Given the description of an element on the screen output the (x, y) to click on. 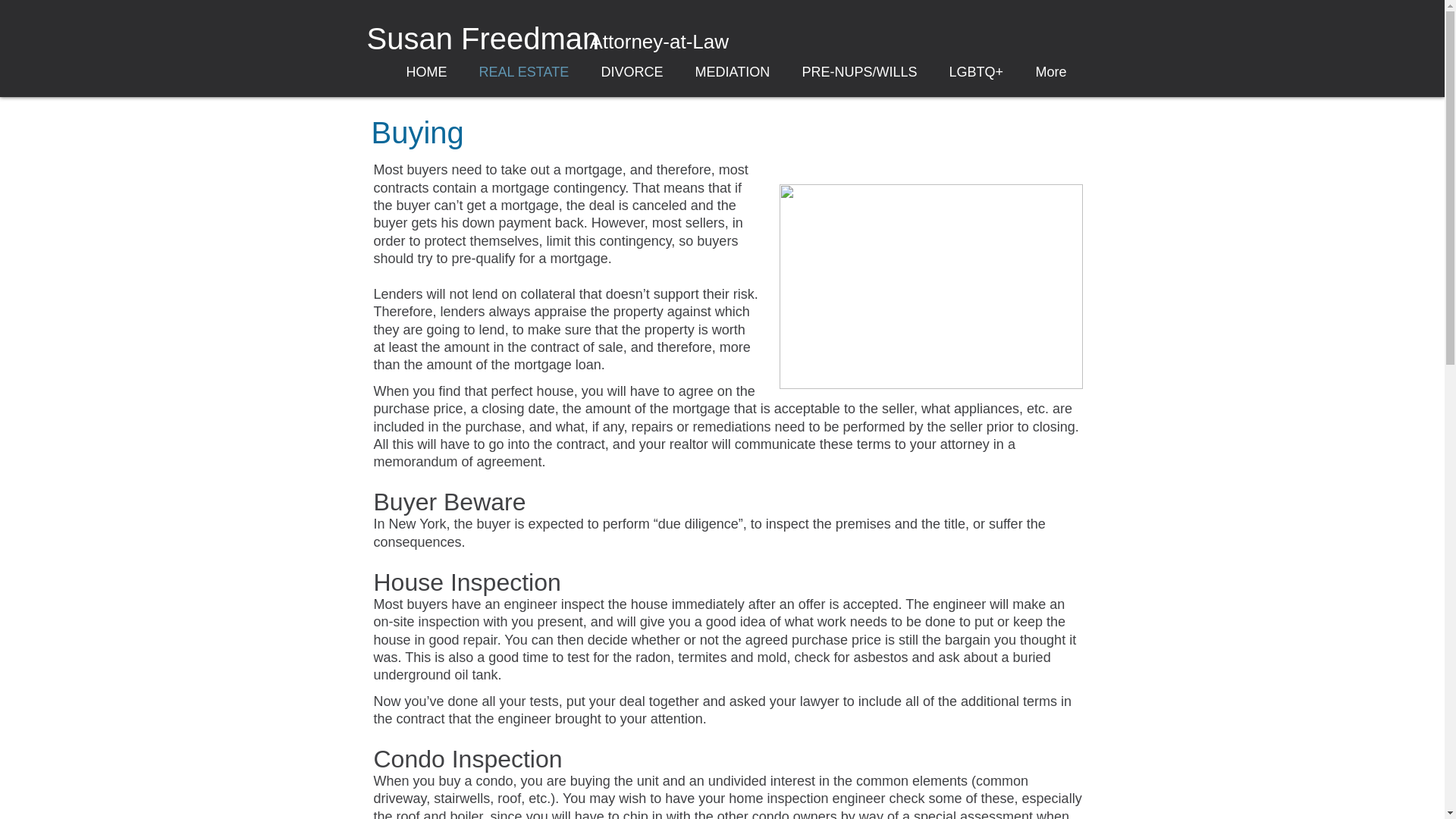
Susan Freedman (482, 46)
REAL ESTATE (524, 72)
HOME (426, 72)
MEDIATION (732, 72)
DIVORCE (632, 72)
